Given the description of an element on the screen output the (x, y) to click on. 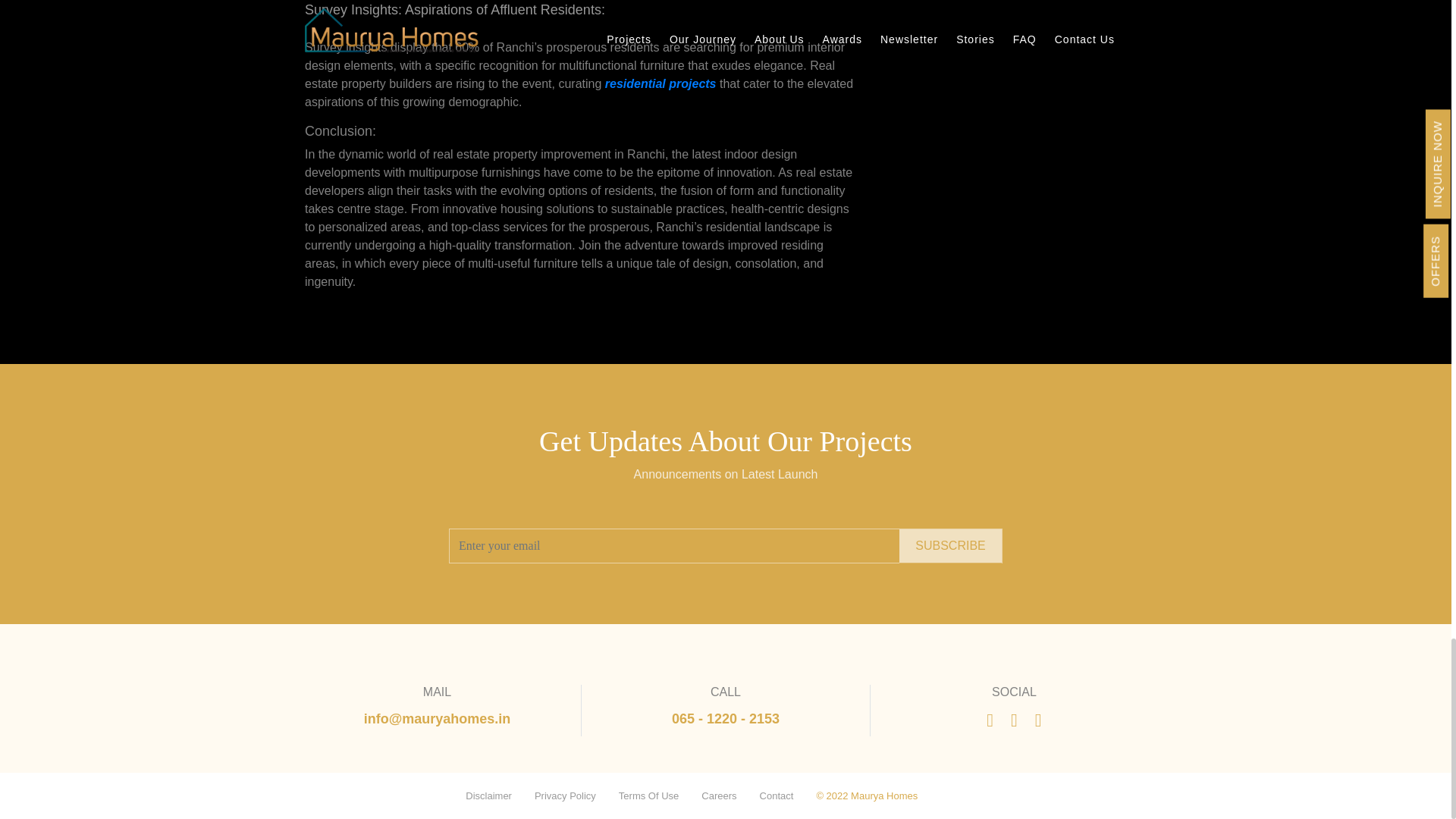
Disclaimer (488, 795)
Privacy Policy (564, 795)
Terms Of Use (648, 795)
SUBSCRIBE (950, 545)
residential projects (660, 83)
Contact (776, 795)
Careers (718, 795)
